Given the description of an element on the screen output the (x, y) to click on. 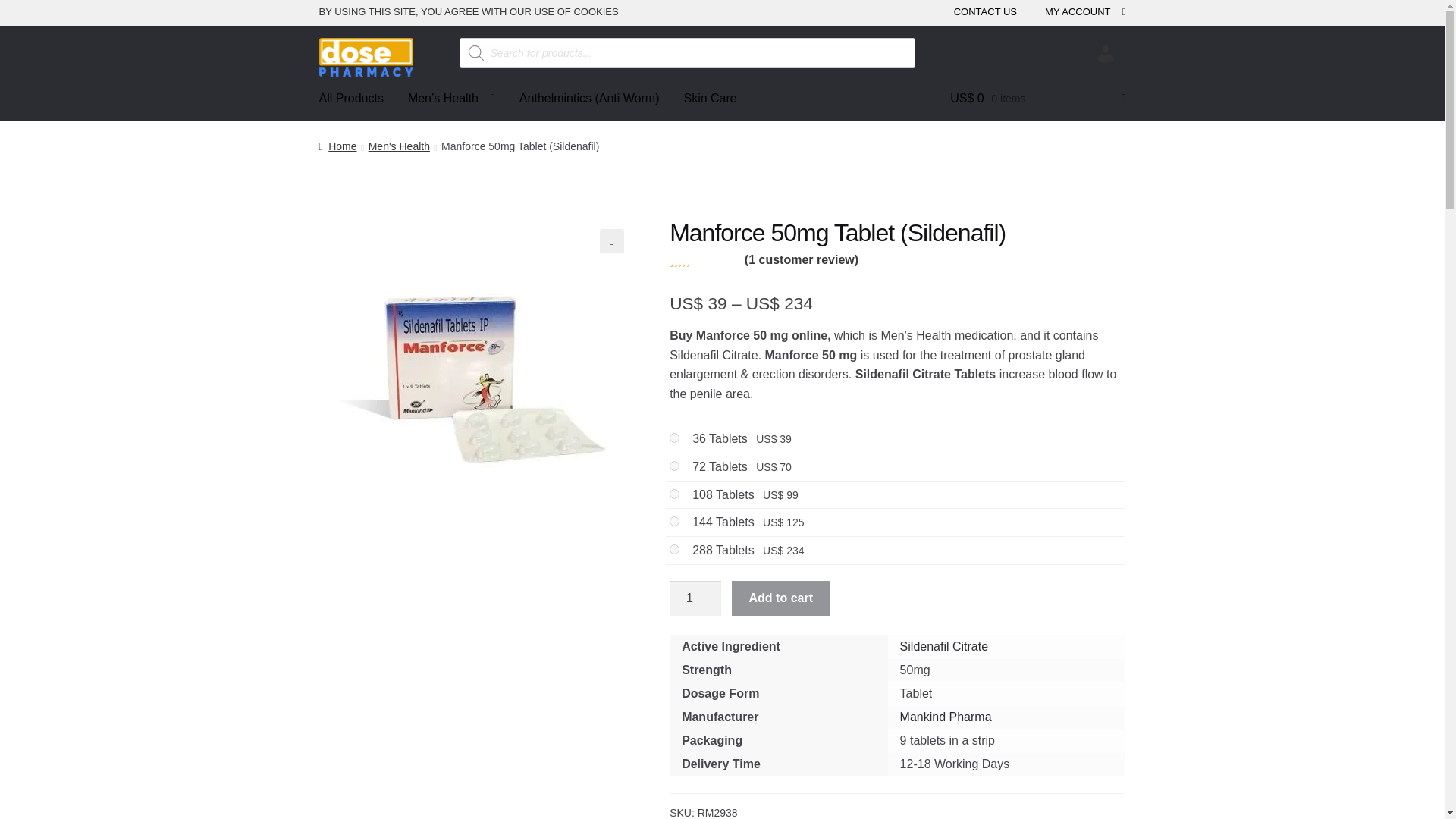
Mankind Pharma (945, 716)
Home (337, 146)
on (674, 493)
1 (694, 597)
Sildenafil Citrate (943, 645)
Men's Health (398, 146)
All Products (351, 98)
on (674, 549)
Skin Care (709, 98)
My Account (1105, 56)
